Given the description of an element on the screen output the (x, y) to click on. 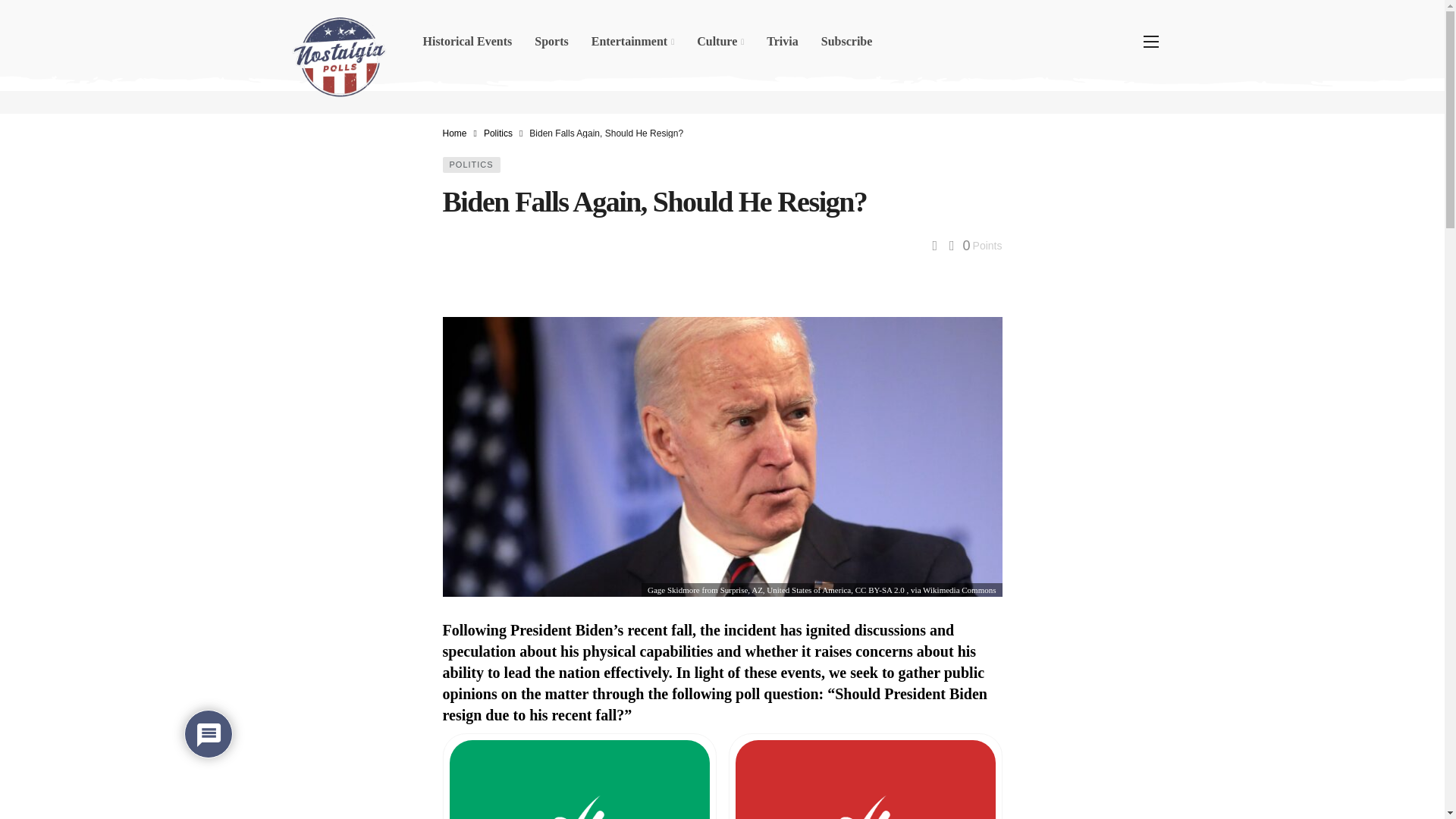
Entertainment (632, 41)
Historical Events (466, 41)
Trivia (782, 41)
Subscribe (846, 41)
POLITICS (471, 164)
Home (454, 133)
Politics (497, 133)
Sports (550, 41)
Culture (720, 41)
